Given the description of an element on the screen output the (x, y) to click on. 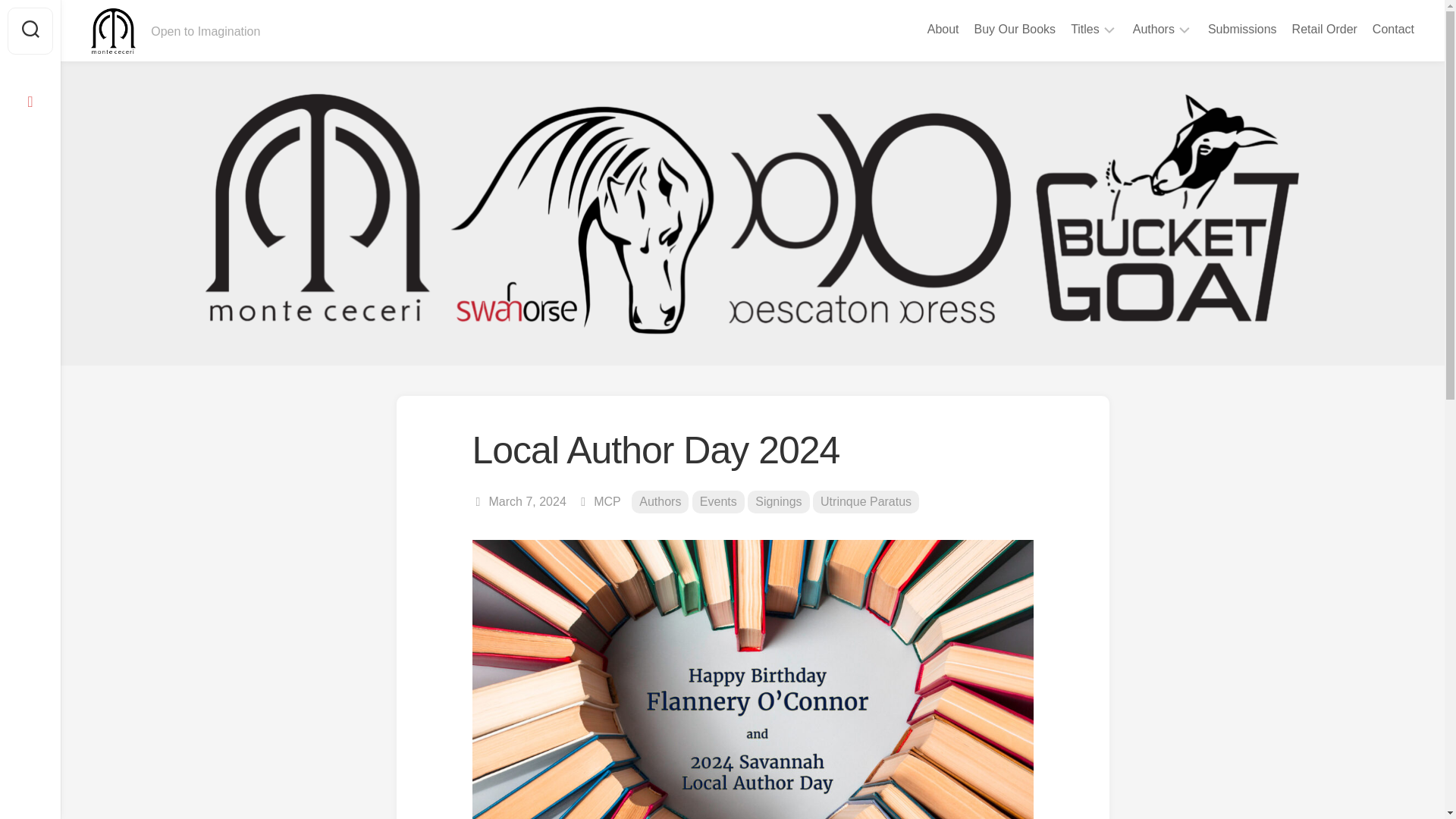
Submissions (1242, 29)
MCP (607, 501)
Retail Order (1324, 29)
Signings (778, 502)
Authors (1153, 29)
Utrinque Paratus (865, 502)
About (943, 29)
Events (718, 502)
Titles (1084, 29)
Posts by MCP (607, 501)
